Given the description of an element on the screen output the (x, y) to click on. 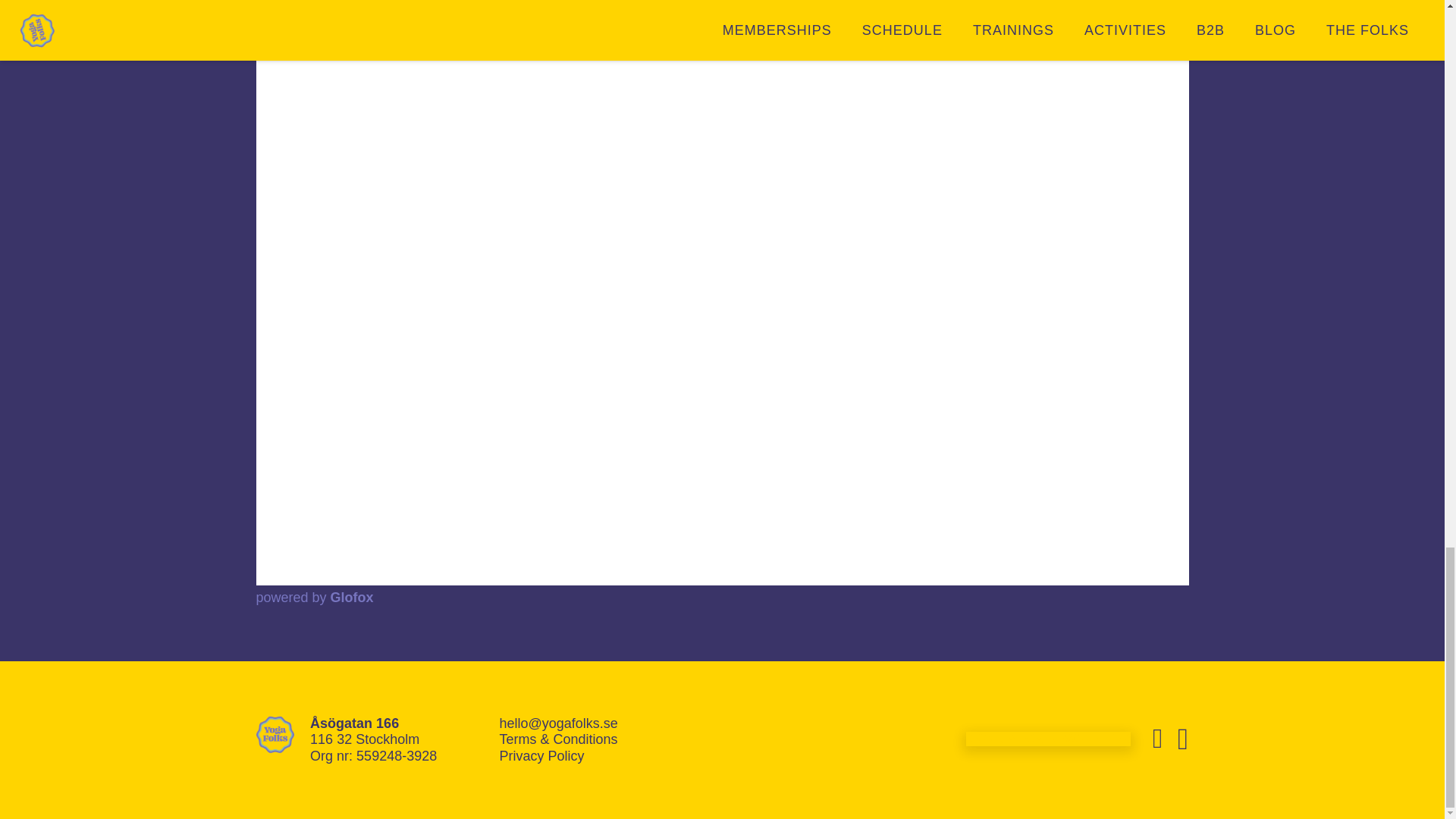
Privacy Policy (541, 755)
SIGN UP FOR NEWSLETTER (1048, 739)
powered by Glofox (315, 597)
